Given the description of an element on the screen output the (x, y) to click on. 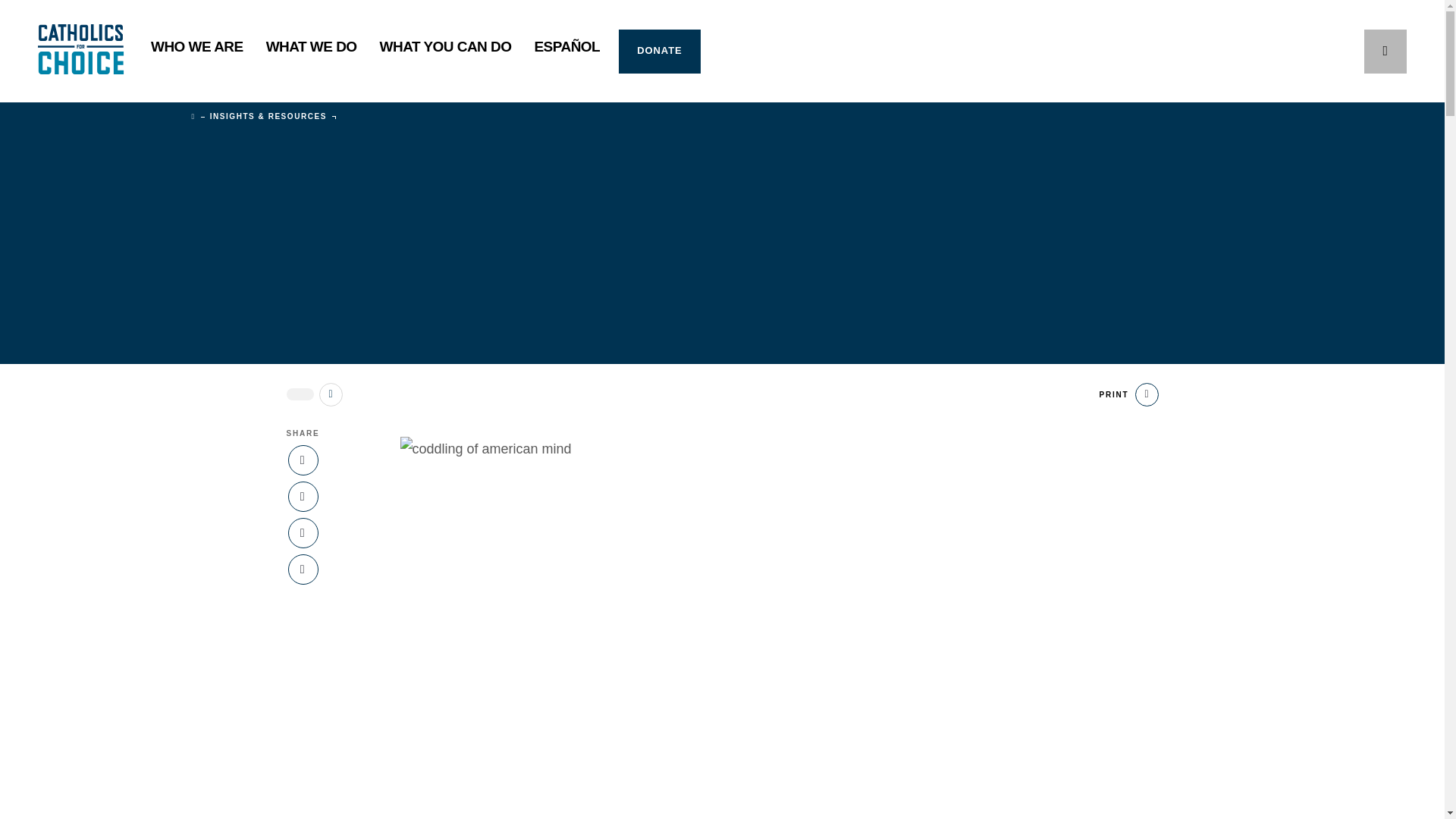
WHO WE ARE (197, 51)
Jump to all Issues (330, 394)
WHAT WE DO (311, 51)
